Given the description of an element on the screen output the (x, y) to click on. 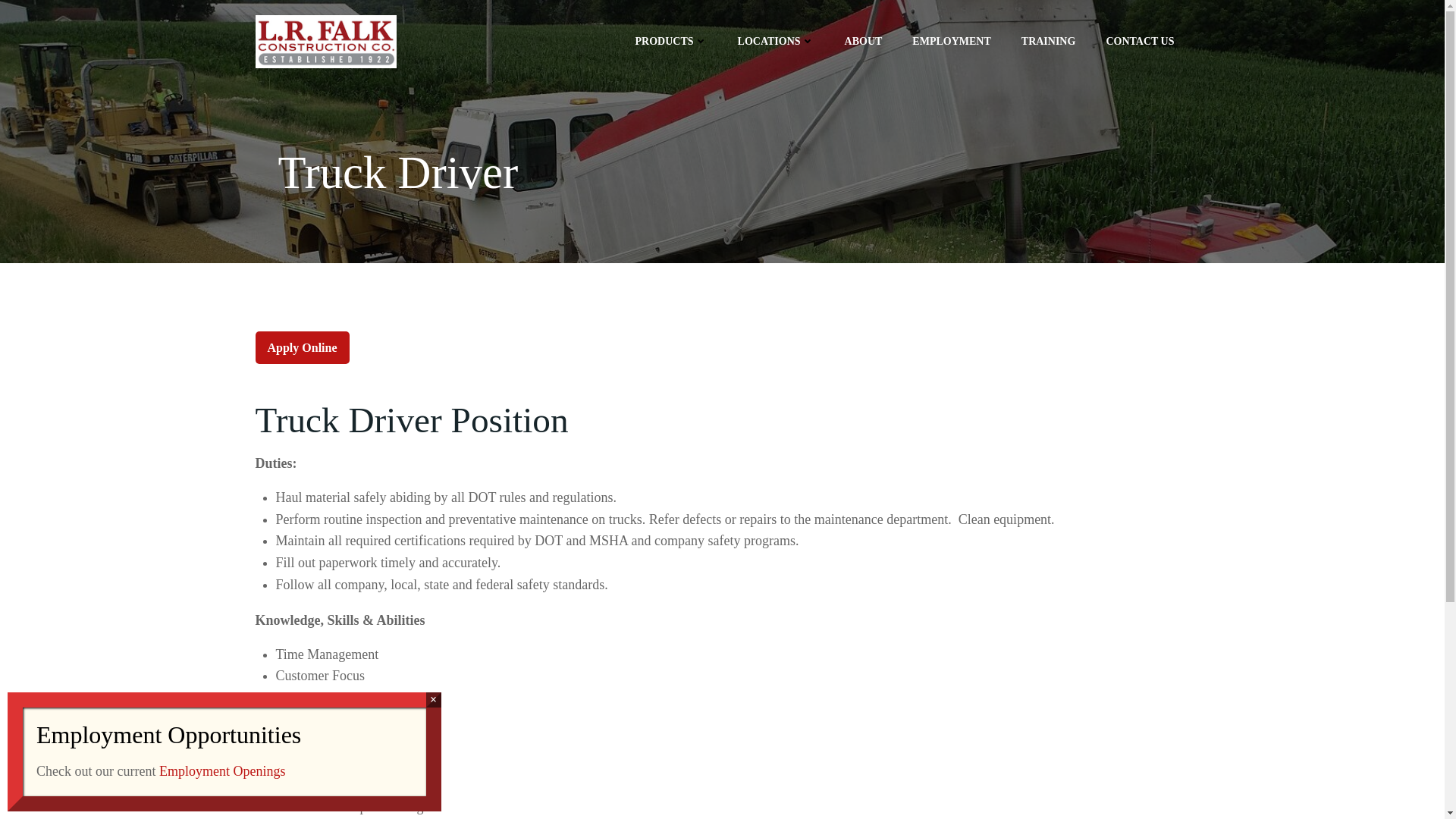
Apply Online (301, 347)
CONTACT US (1139, 41)
EMPLOYMENT (951, 41)
LOCATIONS (775, 41)
ABOUT (863, 41)
TRAINING (1048, 41)
PRODUCTS (670, 41)
Employment Openings (221, 770)
